Given the description of an element on the screen output the (x, y) to click on. 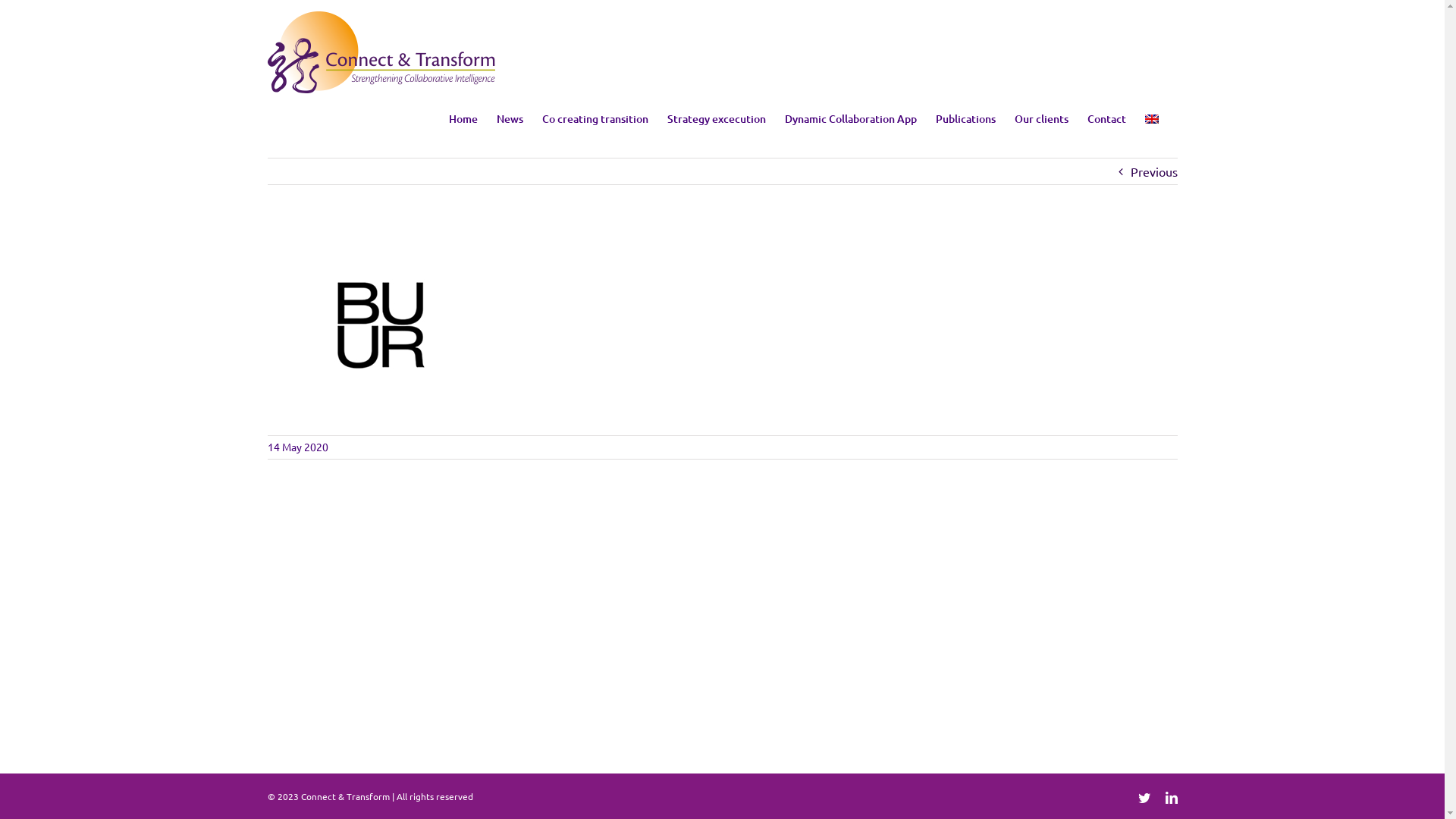
LinkedIn Element type: text (1170, 797)
Dynamic Collaboration App Element type: text (850, 117)
Publications Element type: text (965, 117)
News Element type: text (508, 117)
Twitter Element type: text (1143, 797)
Strategy excecution Element type: text (716, 117)
Our clients Element type: text (1041, 117)
Previous Element type: text (1152, 171)
Co creating transition Element type: text (594, 117)
Home Element type: text (462, 117)
Contact Element type: text (1106, 117)
